Given the description of an element on the screen output the (x, y) to click on. 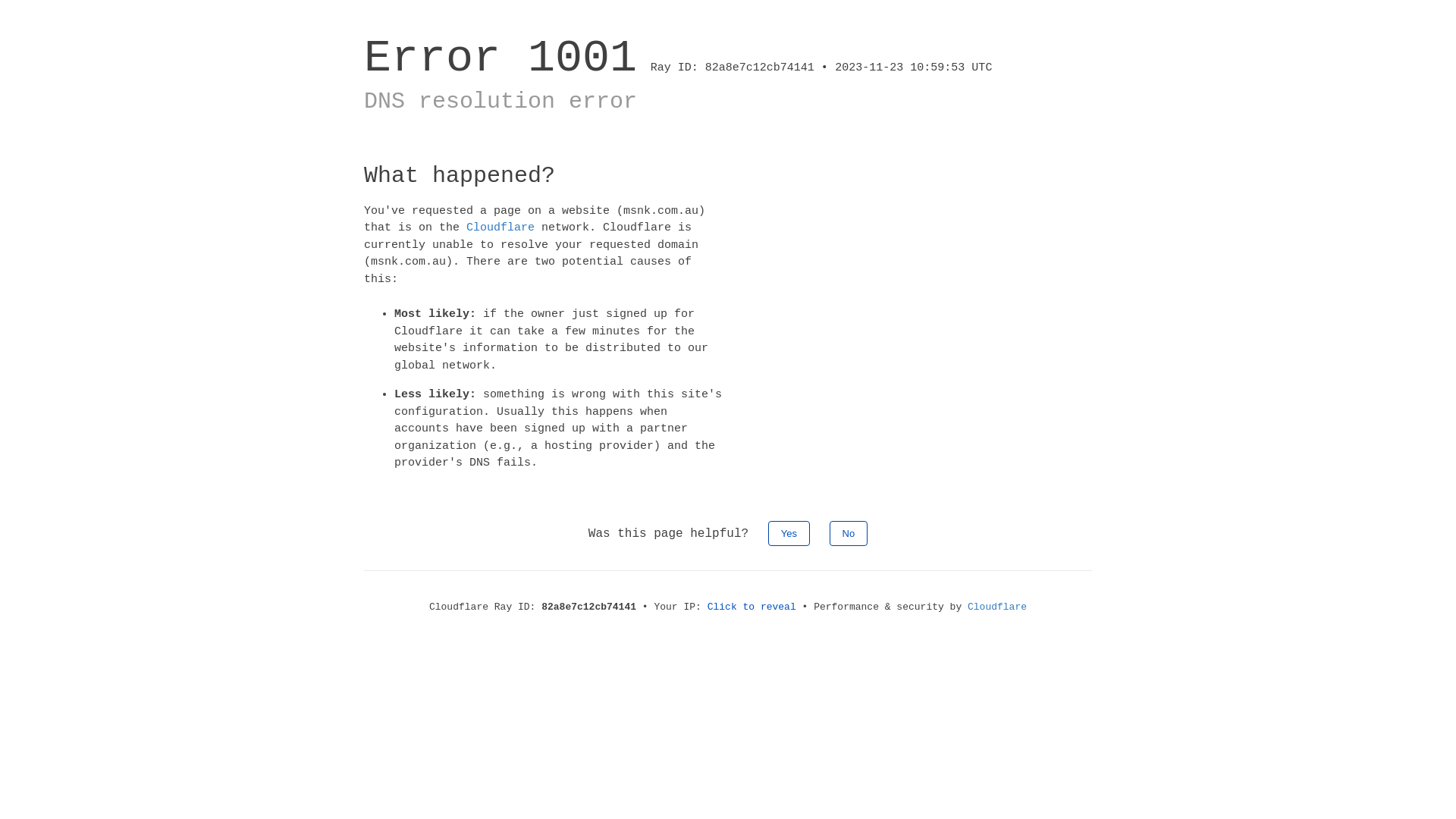
Yes Element type: text (788, 532)
No Element type: text (848, 532)
Click to reveal Element type: text (751, 605)
Cloudflare Element type: text (500, 227)
Cloudflare Element type: text (996, 605)
